Given the description of an element on the screen output the (x, y) to click on. 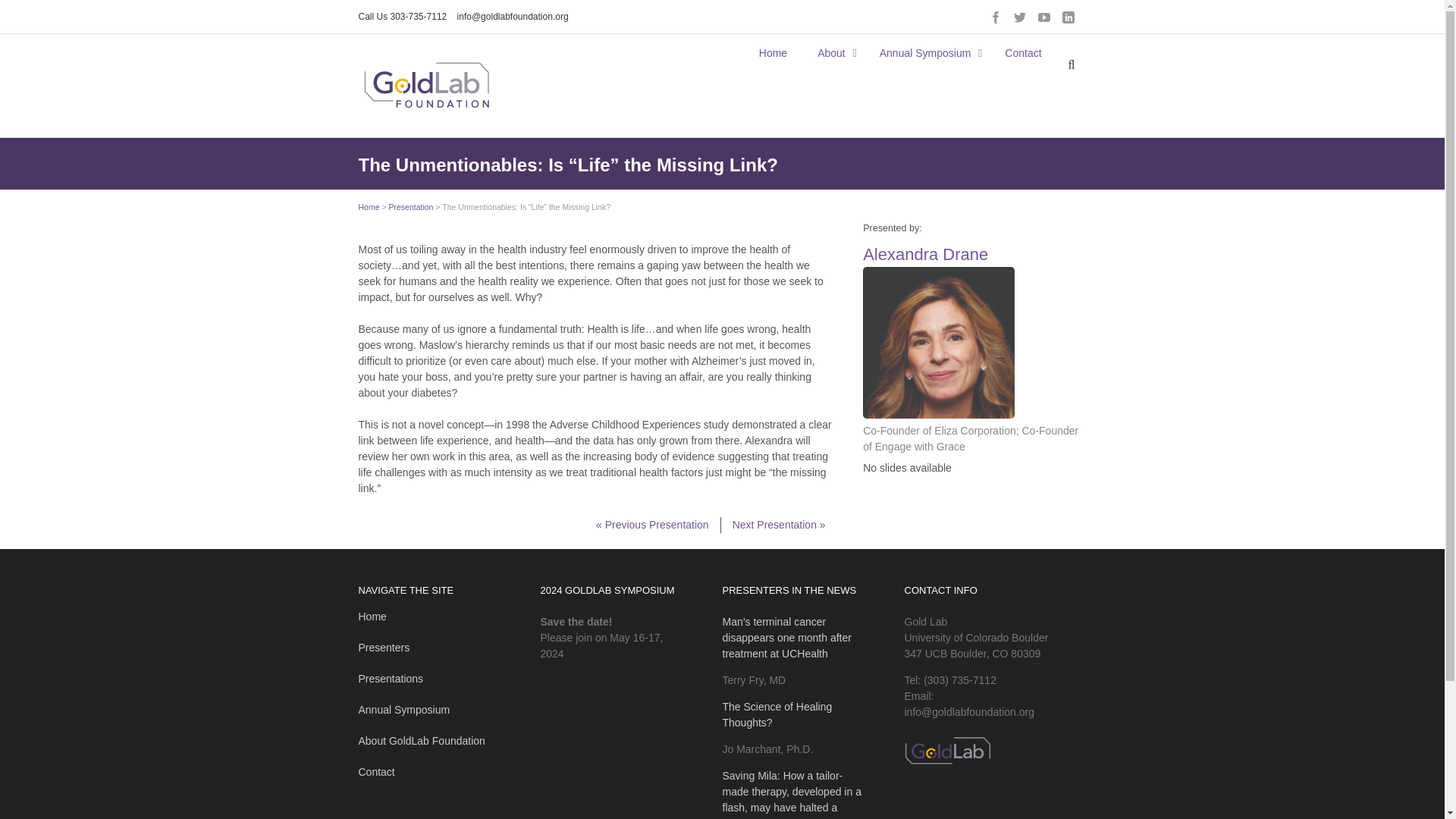
Home (371, 616)
About GoldLab Foundation (421, 740)
Home (368, 206)
Youtube (1043, 17)
Presentations (390, 678)
Annual Symposium (927, 52)
Presenters (383, 647)
Presentation (410, 206)
Linkedin (1067, 17)
Contact (1023, 52)
